Given the description of an element on the screen output the (x, y) to click on. 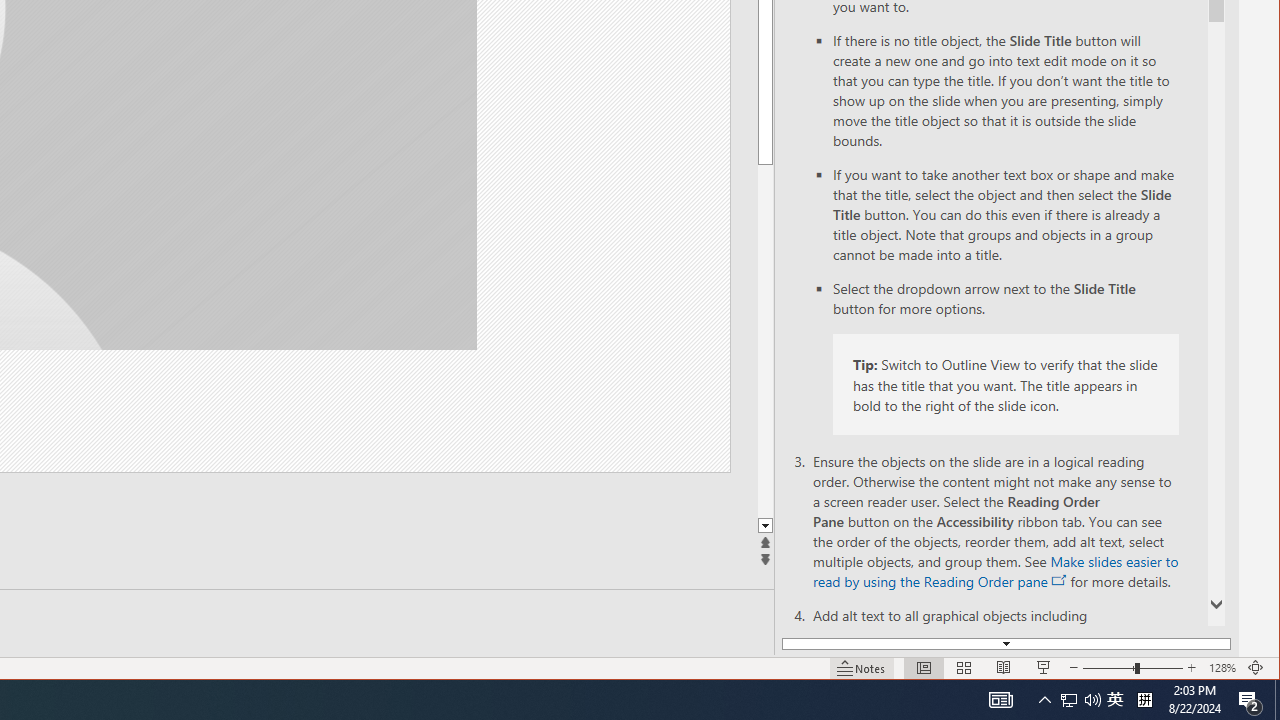
Show desktop (1277, 699)
Zoom 128% (1115, 699)
Page down (1222, 668)
User Promoted Notification Area (765, 340)
Action Center, 2 new notifications (1080, 699)
AutomationID: 4105 (1250, 699)
